Given the description of an element on the screen output the (x, y) to click on. 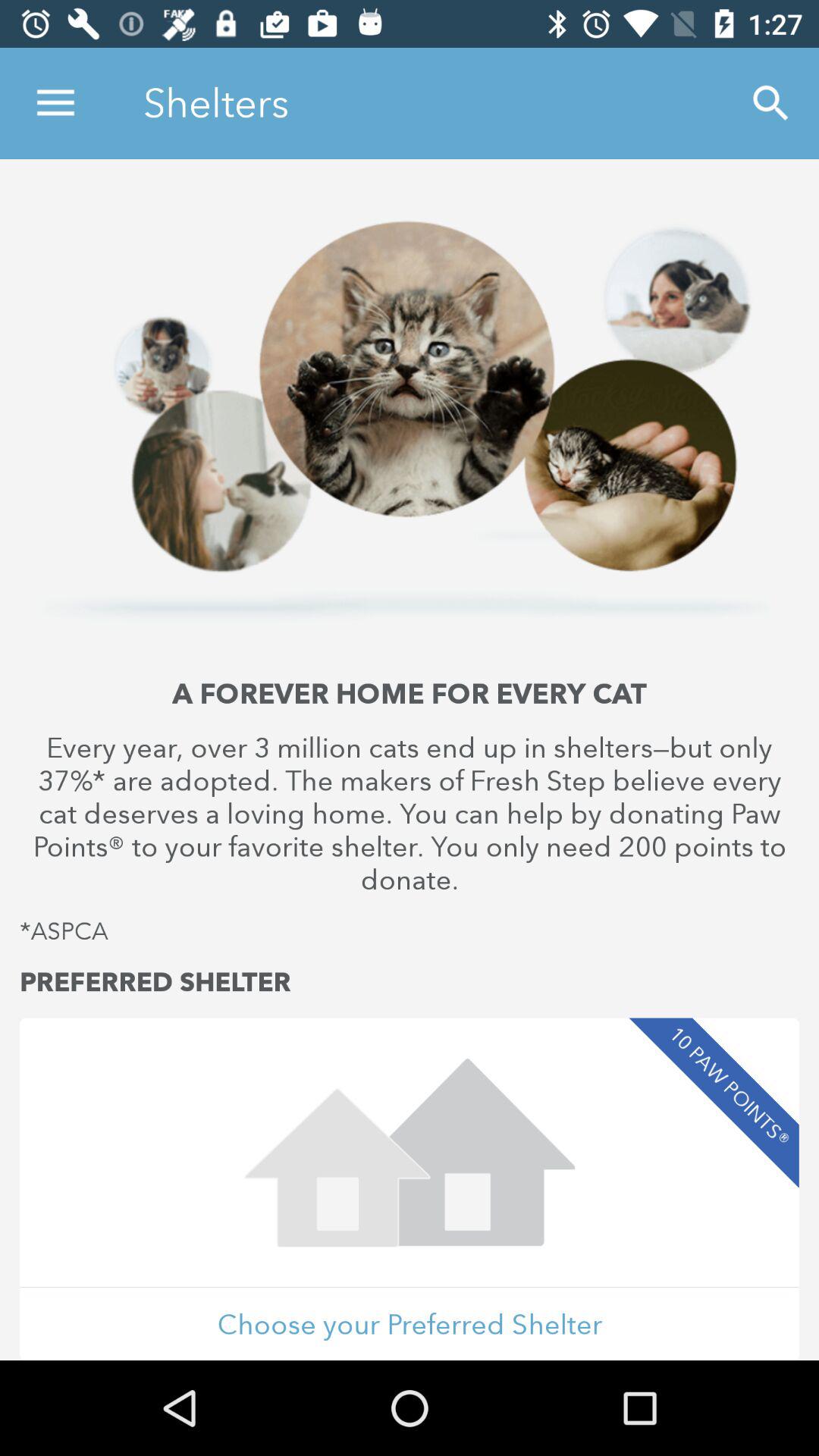
choose icon next to shelters (55, 103)
